Given the description of an element on the screen output the (x, y) to click on. 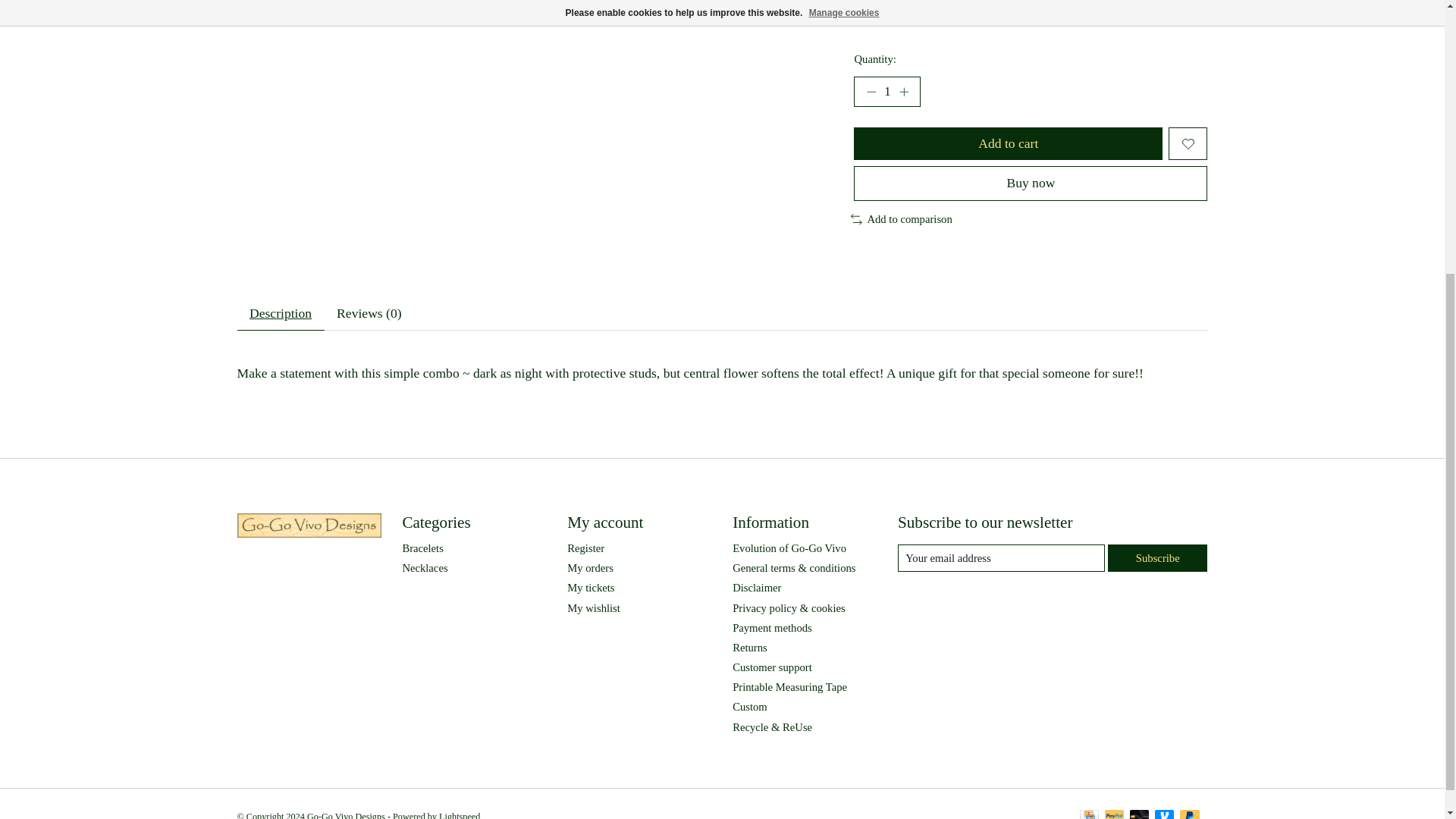
1 (886, 91)
My tickets (590, 587)
Register (585, 548)
My orders (589, 567)
Payment methods (772, 627)
Add to comparison (901, 219)
Disclaimer (756, 587)
Returns (749, 647)
Buy now (1030, 182)
Add to cart (1007, 143)
